Given the description of an element on the screen output the (x, y) to click on. 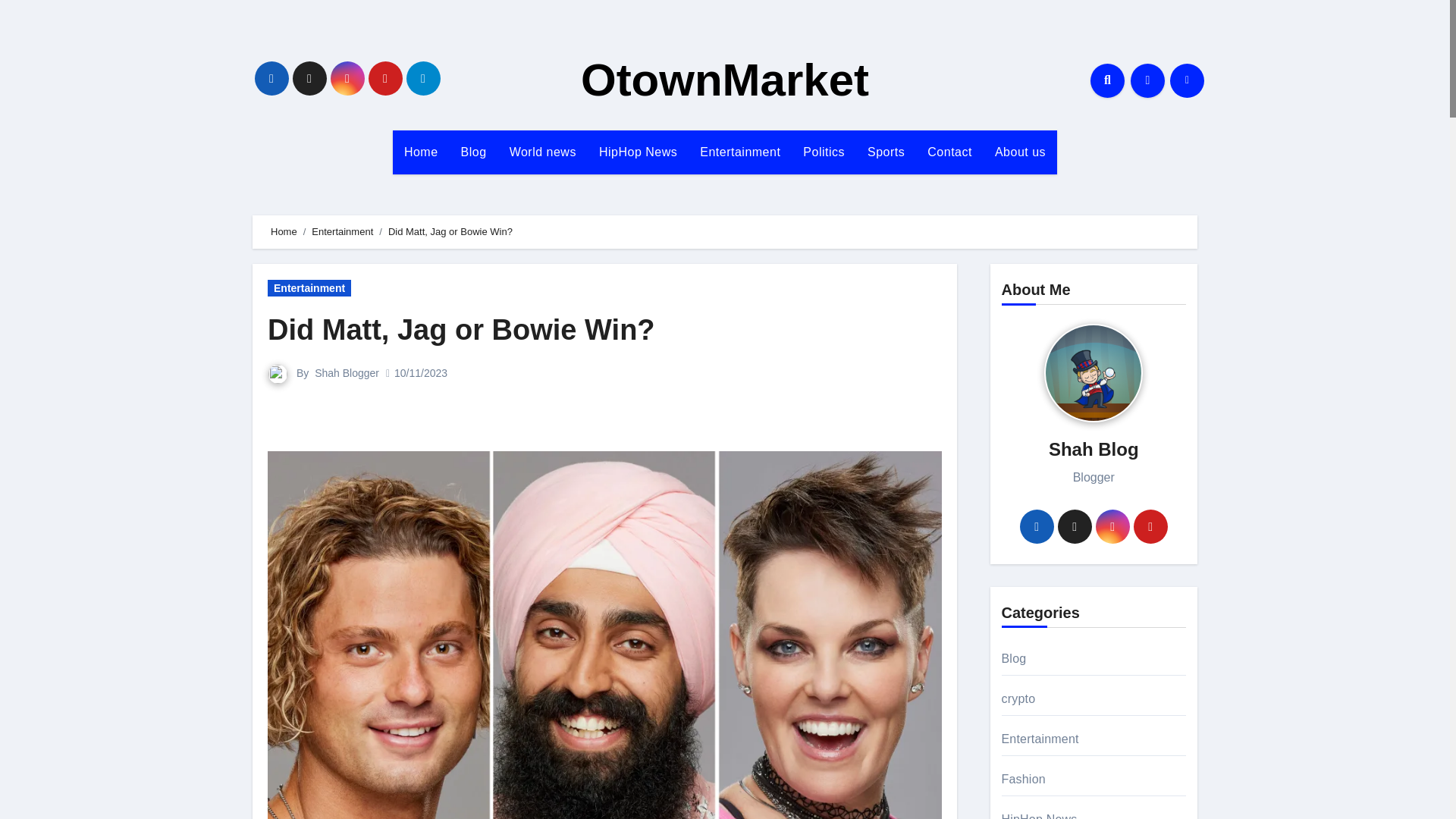
Entertainment (308, 288)
Sports (885, 152)
Shah Blogger (346, 372)
OtownMarket (724, 79)
Entertainment (740, 152)
Permalink to: Did Matt, Jag or Bowie Win? (461, 329)
Entertainment (740, 152)
Home (283, 231)
About us (1020, 152)
Politics (824, 152)
About us (1020, 152)
Contact (949, 152)
Sports (885, 152)
Blog (473, 152)
World news (542, 152)
